Given the description of an element on the screen output the (x, y) to click on. 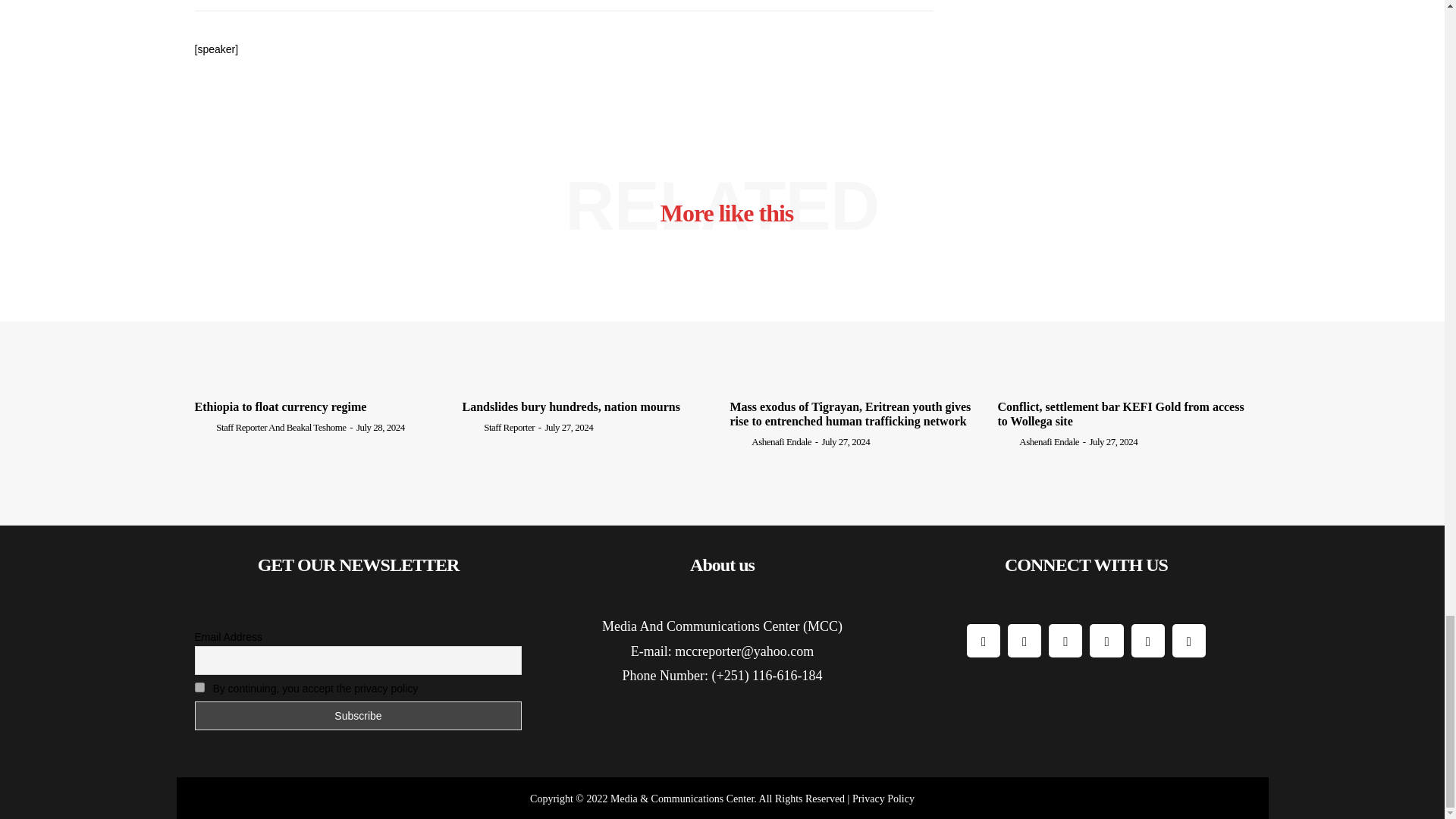
Subscribe (357, 715)
on (198, 687)
